Given the description of an element on the screen output the (x, y) to click on. 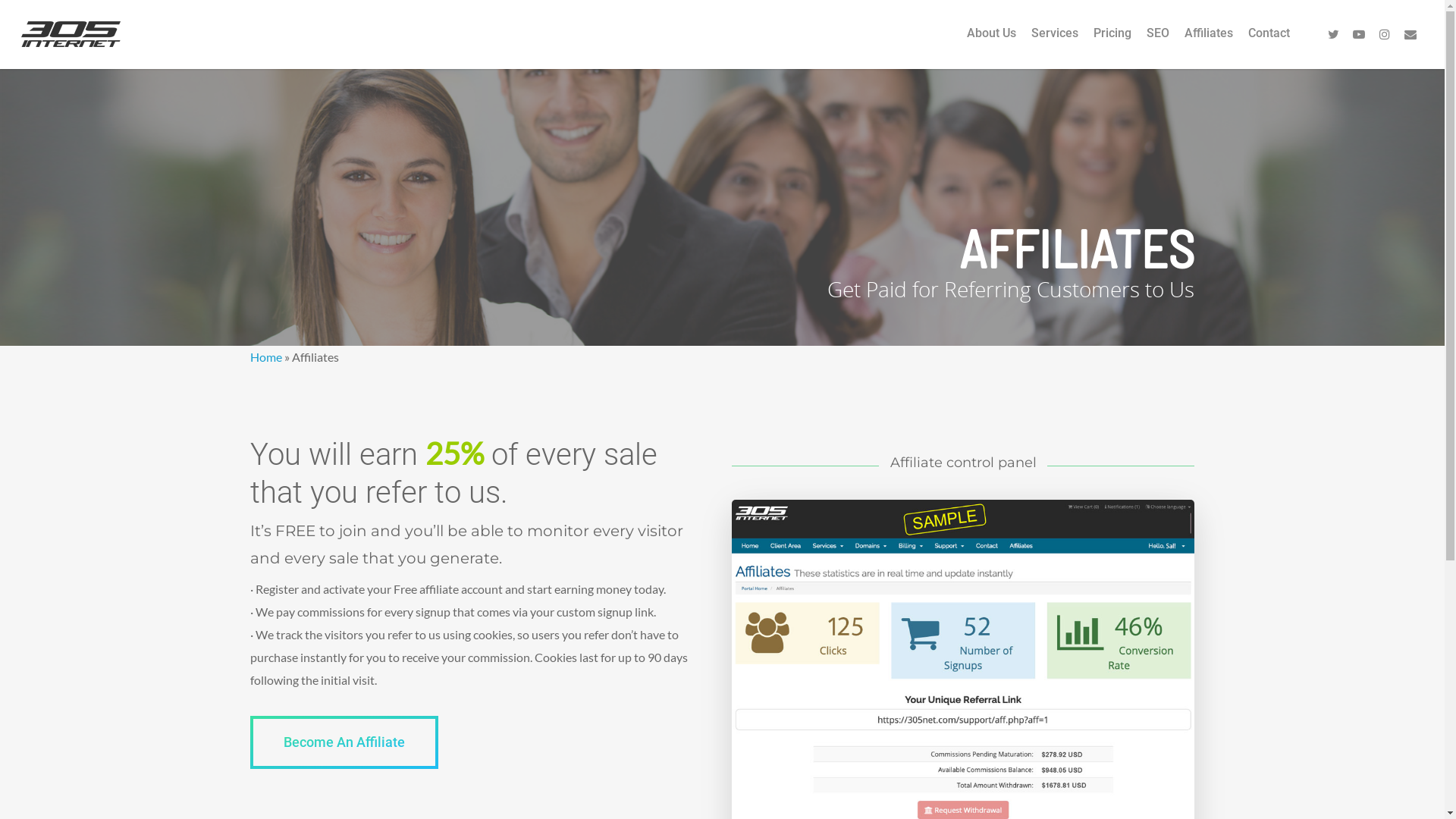
SEO Element type: text (1157, 43)
Services Element type: text (1054, 43)
Become An Affiliate Element type: text (344, 741)
Contact Element type: text (1268, 43)
Pricing Element type: text (1112, 43)
Home Element type: text (266, 356)
About Us Element type: text (991, 43)
Affiliates Element type: text (1208, 43)
